Given the description of an element on the screen output the (x, y) to click on. 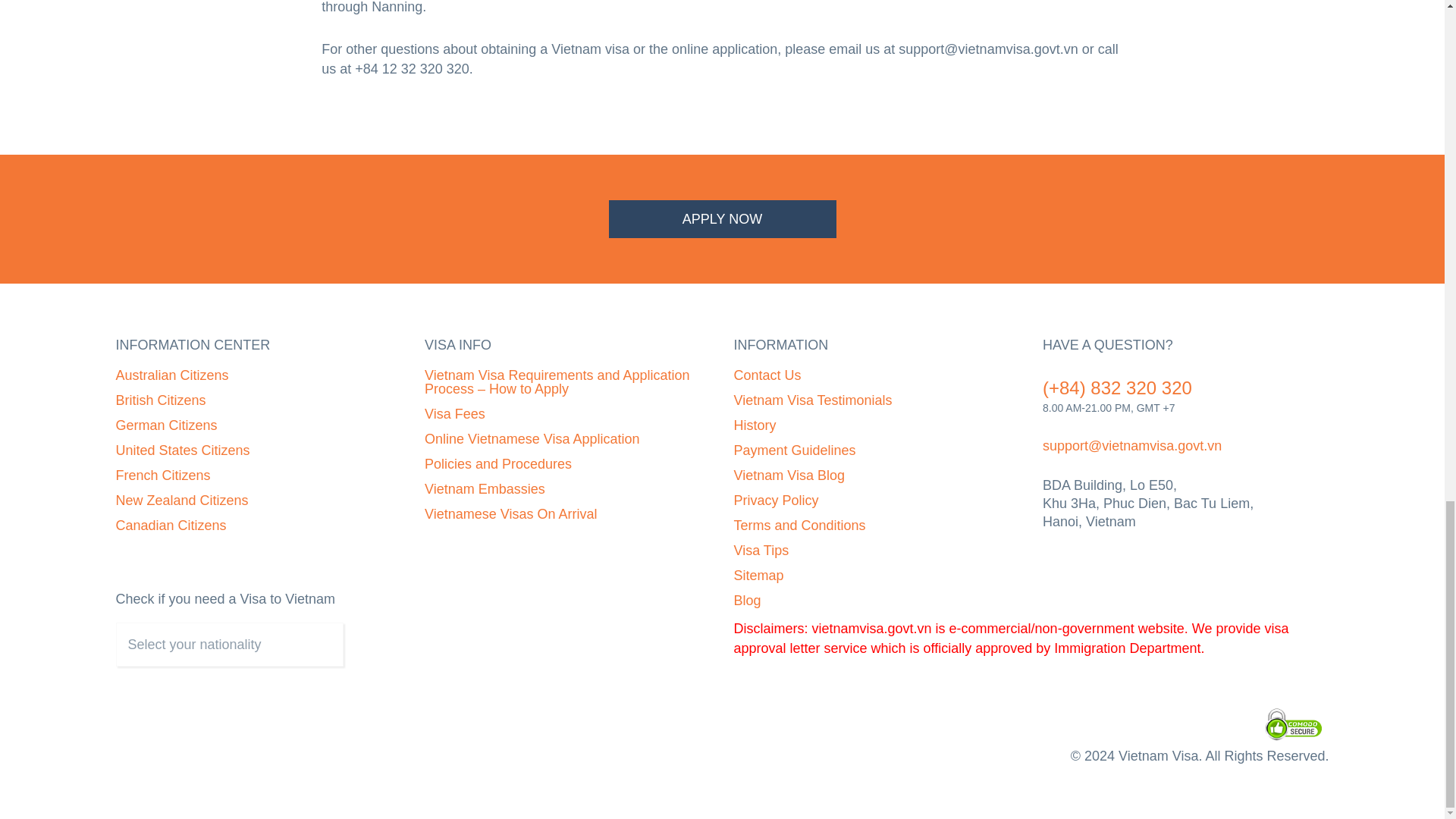
Australian Citizens (171, 375)
INFORMATION CENTER (258, 344)
Call us (1117, 387)
Visa Fees (454, 413)
APPLY NOW (721, 218)
German Citizens (165, 425)
British Citizens (160, 400)
Email us (1131, 445)
Online Vietnamese Visa Application (532, 438)
United States Citizens (181, 450)
